Given the description of an element on the screen output the (x, y) to click on. 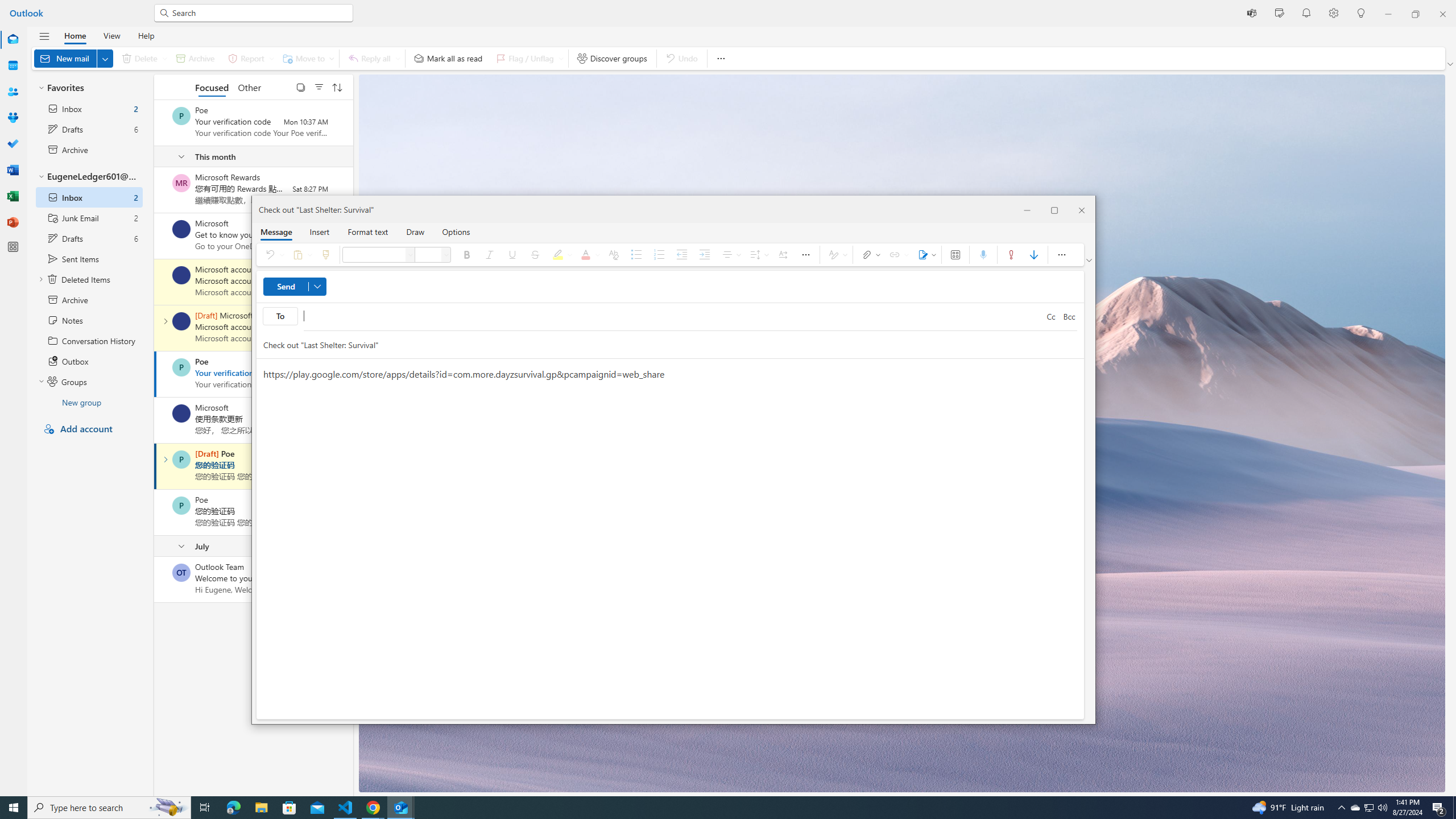
Task View (204, 807)
Type here to search (108, 807)
Expand to see more report options (271, 58)
Google Chrome - 3 running windows (373, 807)
Filter (318, 86)
Spacing (757, 254)
To (280, 316)
Text highlight color (560, 254)
Delete (141, 58)
Expand to see delete options (164, 58)
Draw (415, 231)
Groups (12, 118)
Mark as unread (154, 578)
